Given the description of an element on the screen output the (x, y) to click on. 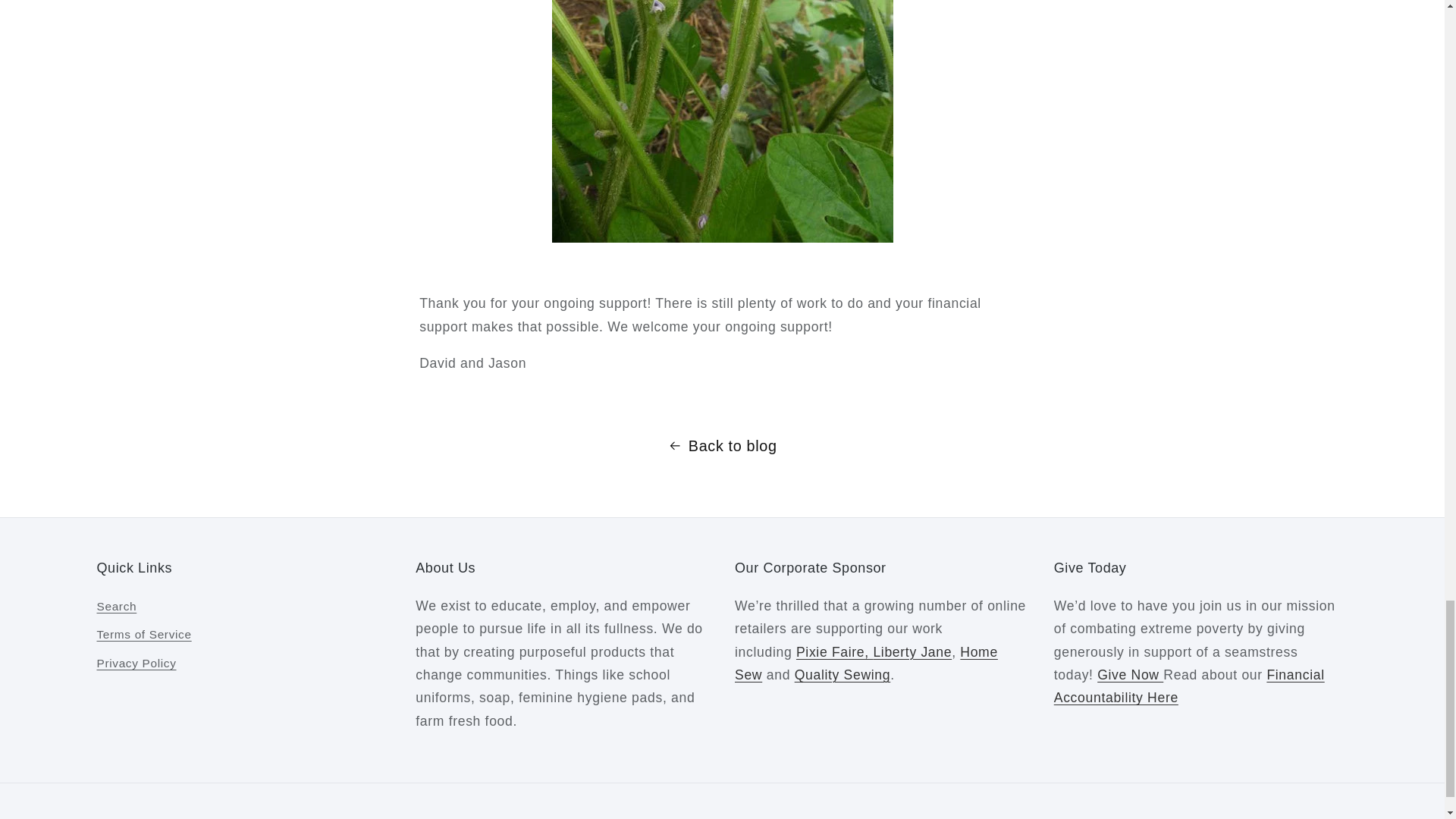
Terms of Service (144, 635)
Search (116, 608)
